Given the description of an element on the screen output the (x, y) to click on. 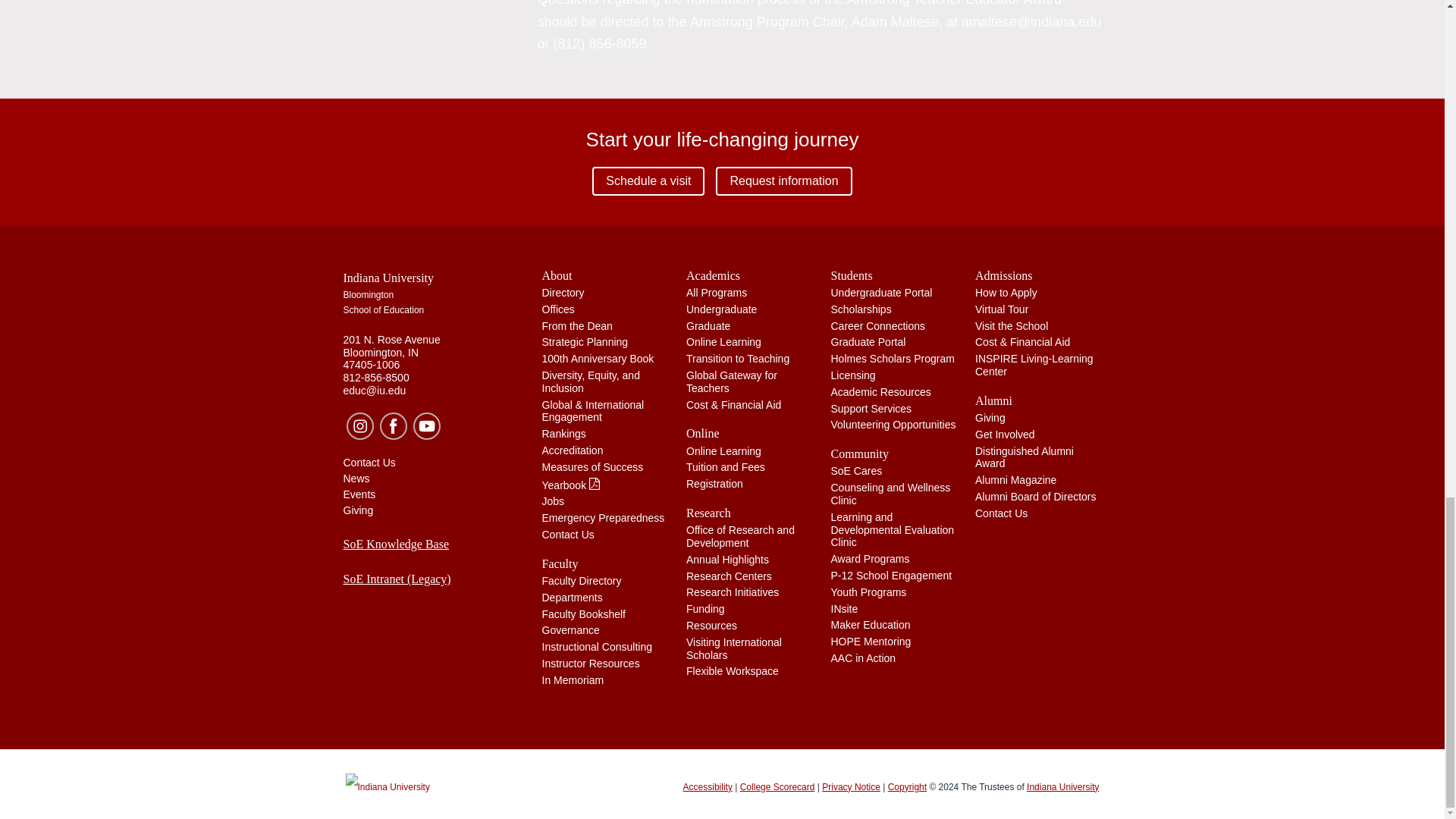
Jobs (552, 500)
Faculty (604, 563)
Rankings (563, 433)
Request information (783, 181)
Contact Us (567, 534)
Strategic Planning (584, 341)
Yearbook (571, 485)
Faculty Directory (581, 580)
Emergency Preparedness (602, 517)
Diversity, Equity, and Inclusion (590, 381)
